Given the description of an element on the screen output the (x, y) to click on. 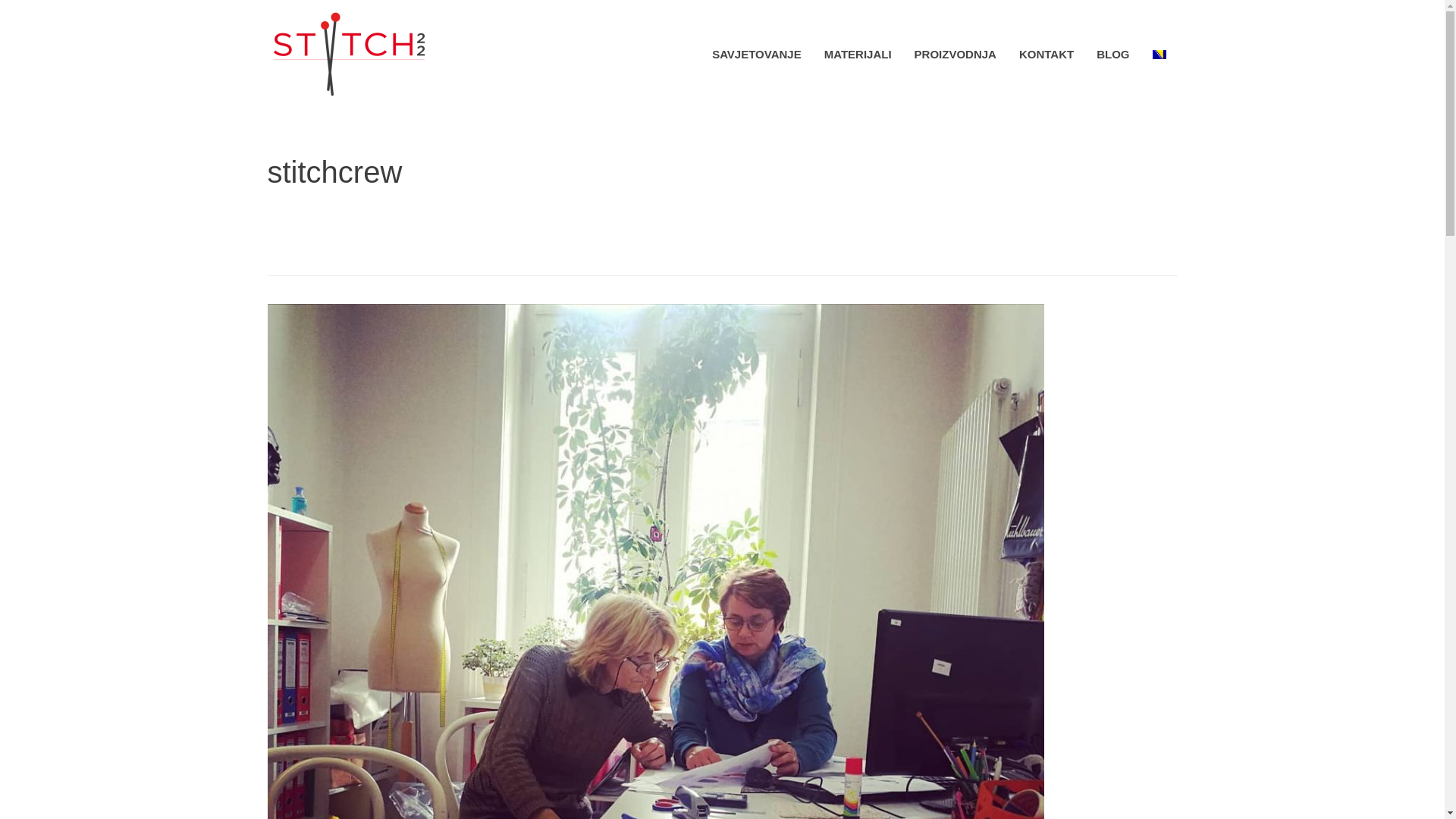
MATERIJALI Element type: text (857, 54)
PROIZVODNJA Element type: text (955, 54)
SAVJETOVANJE Element type: text (756, 54)
BLOG Element type: text (1112, 54)
KONTAKT Element type: text (1046, 54)
